Given the description of an element on the screen output the (x, y) to click on. 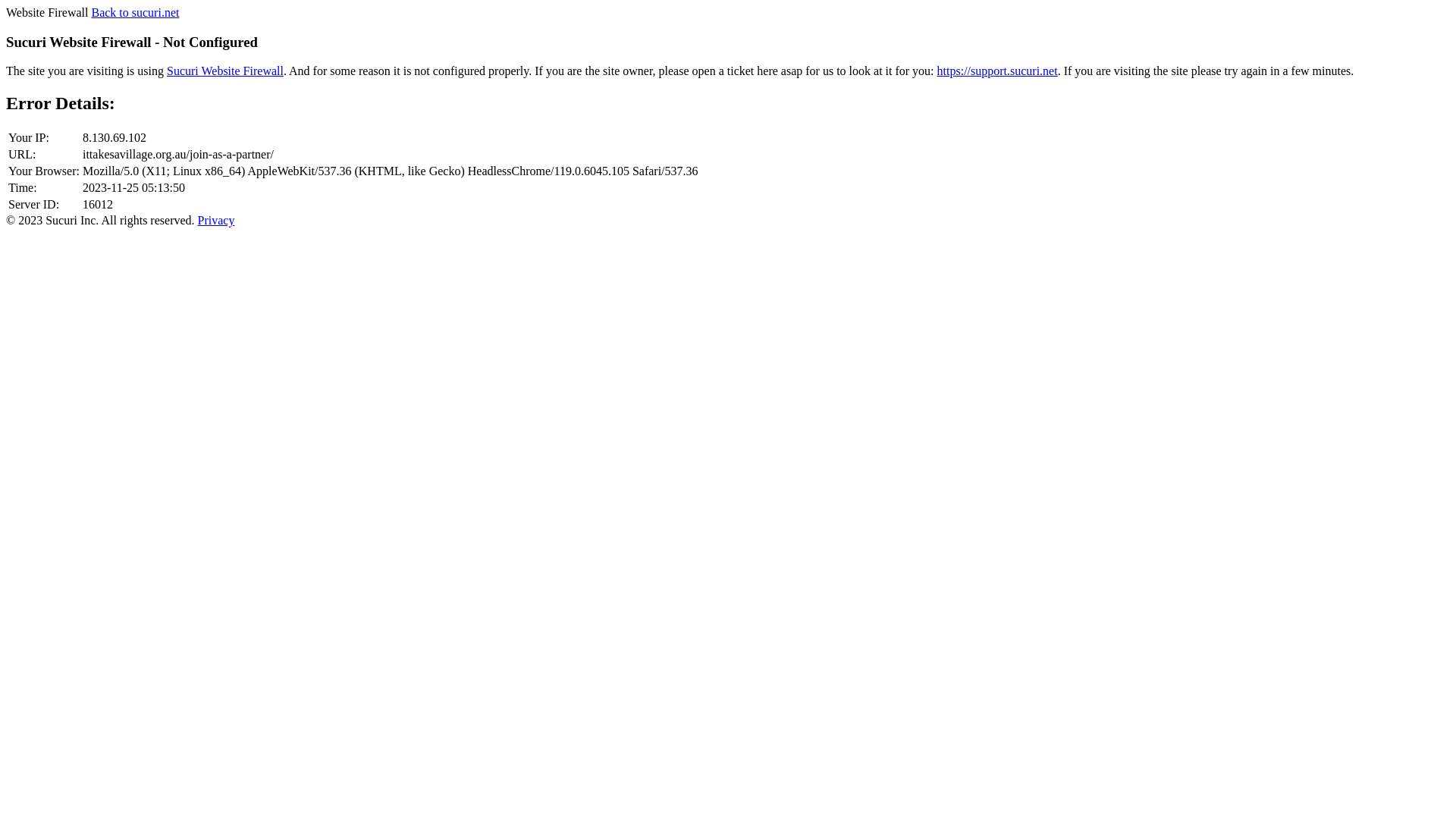
Privacy Element type: text (216, 219)
Back to sucuri.net Element type: text (134, 12)
Sucuri Website Firewall Element type: text (224, 70)
https://support.sucuri.net Element type: text (997, 70)
